Given the description of an element on the screen output the (x, y) to click on. 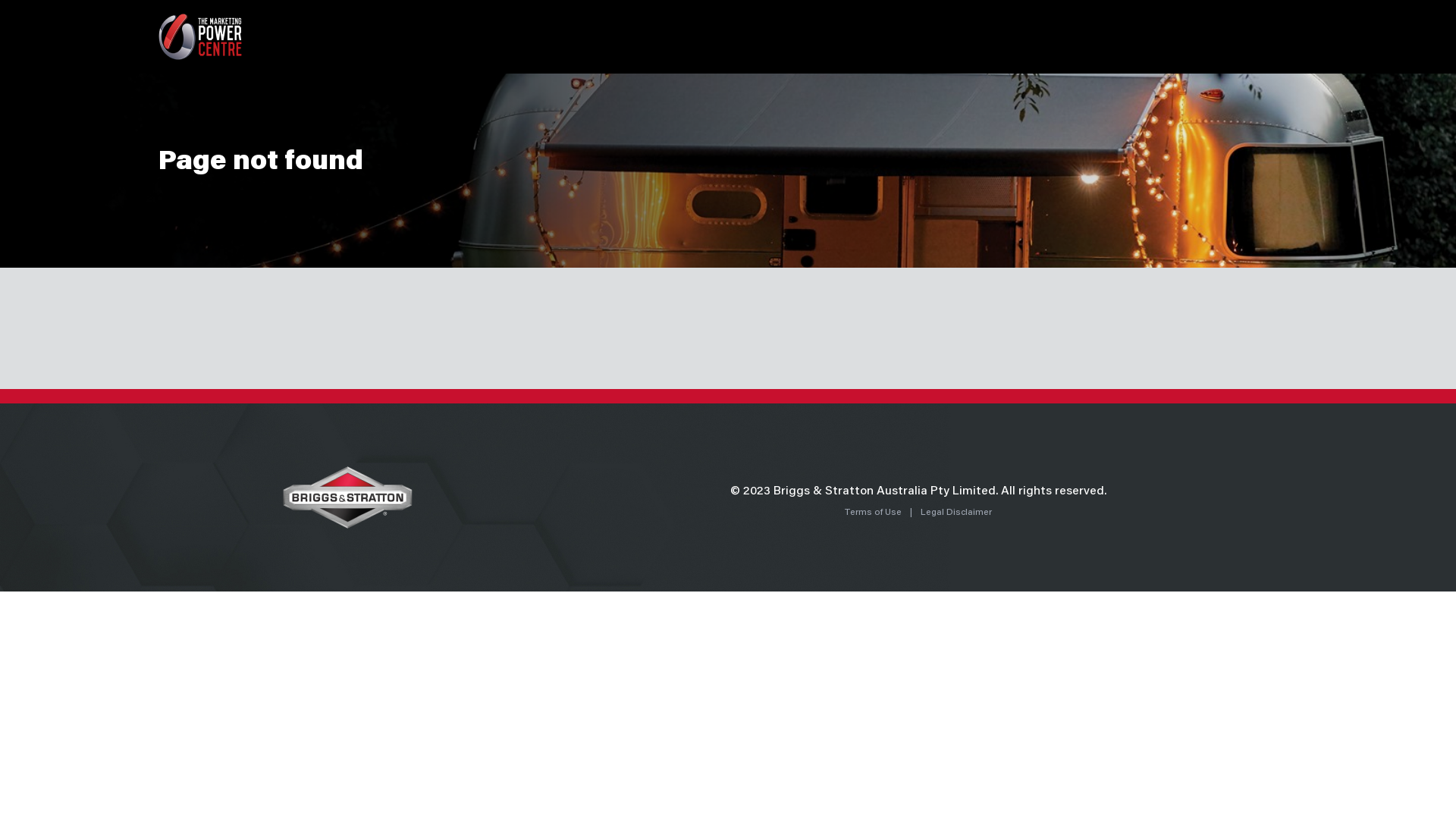
Legal Disclaimer Element type: text (955, 512)
Terms of Use Element type: text (873, 512)
